Given the description of an element on the screen output the (x, y) to click on. 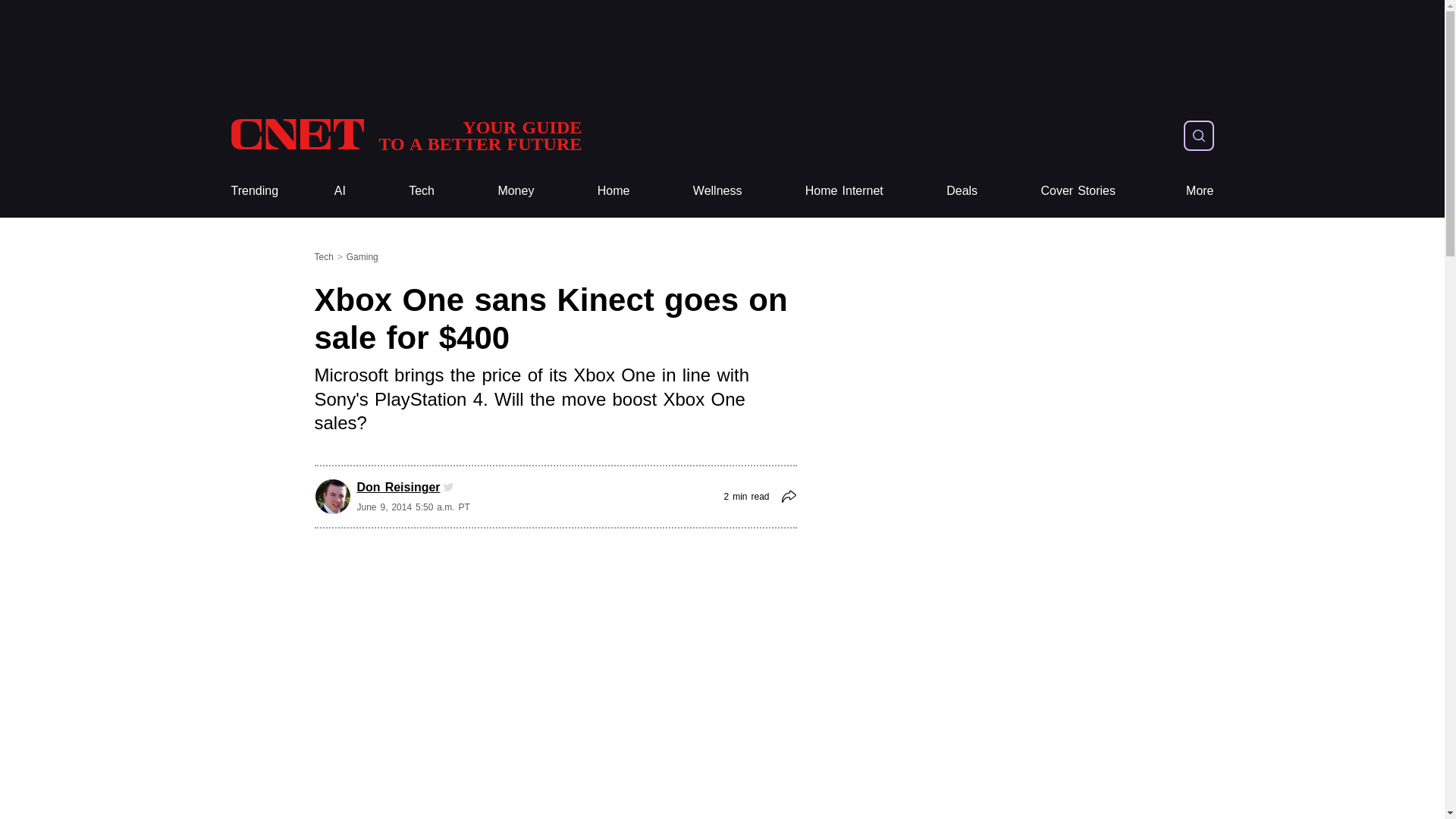
Wellness (717, 190)
Tech (421, 190)
Home (613, 190)
Wellness (717, 190)
Home (405, 135)
Money (613, 190)
More (515, 190)
Tech (1199, 190)
Home Internet (421, 190)
Trending (844, 190)
Cover Stories (254, 190)
CNET (1078, 190)
Home Internet (405, 135)
Money (844, 190)
